Given the description of an element on the screen output the (x, y) to click on. 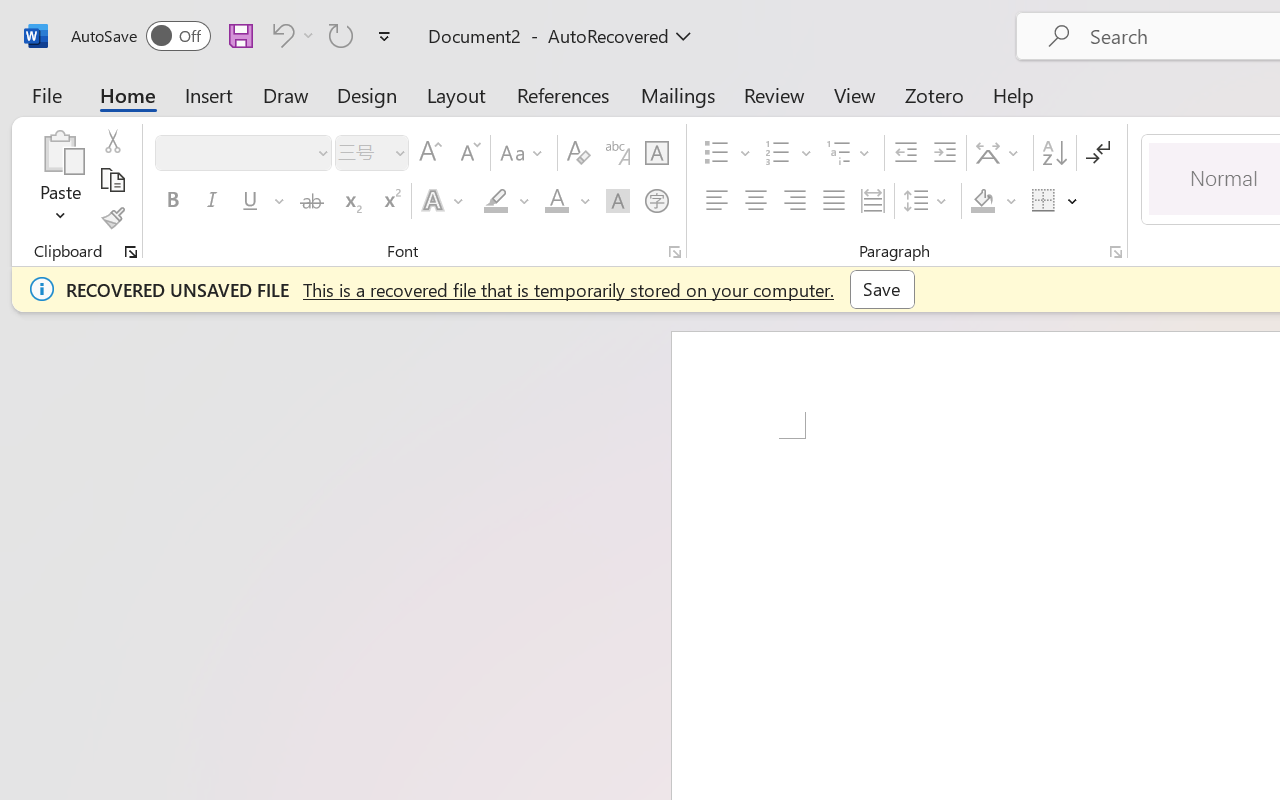
Justify (834, 201)
Help (1013, 94)
Align Left (716, 201)
Center (756, 201)
Office Clipboard... (131, 252)
Text Highlight Color Yellow (495, 201)
Distributed (872, 201)
Text Highlight Color (506, 201)
Can't Repeat (341, 35)
